Given the description of an element on the screen output the (x, y) to click on. 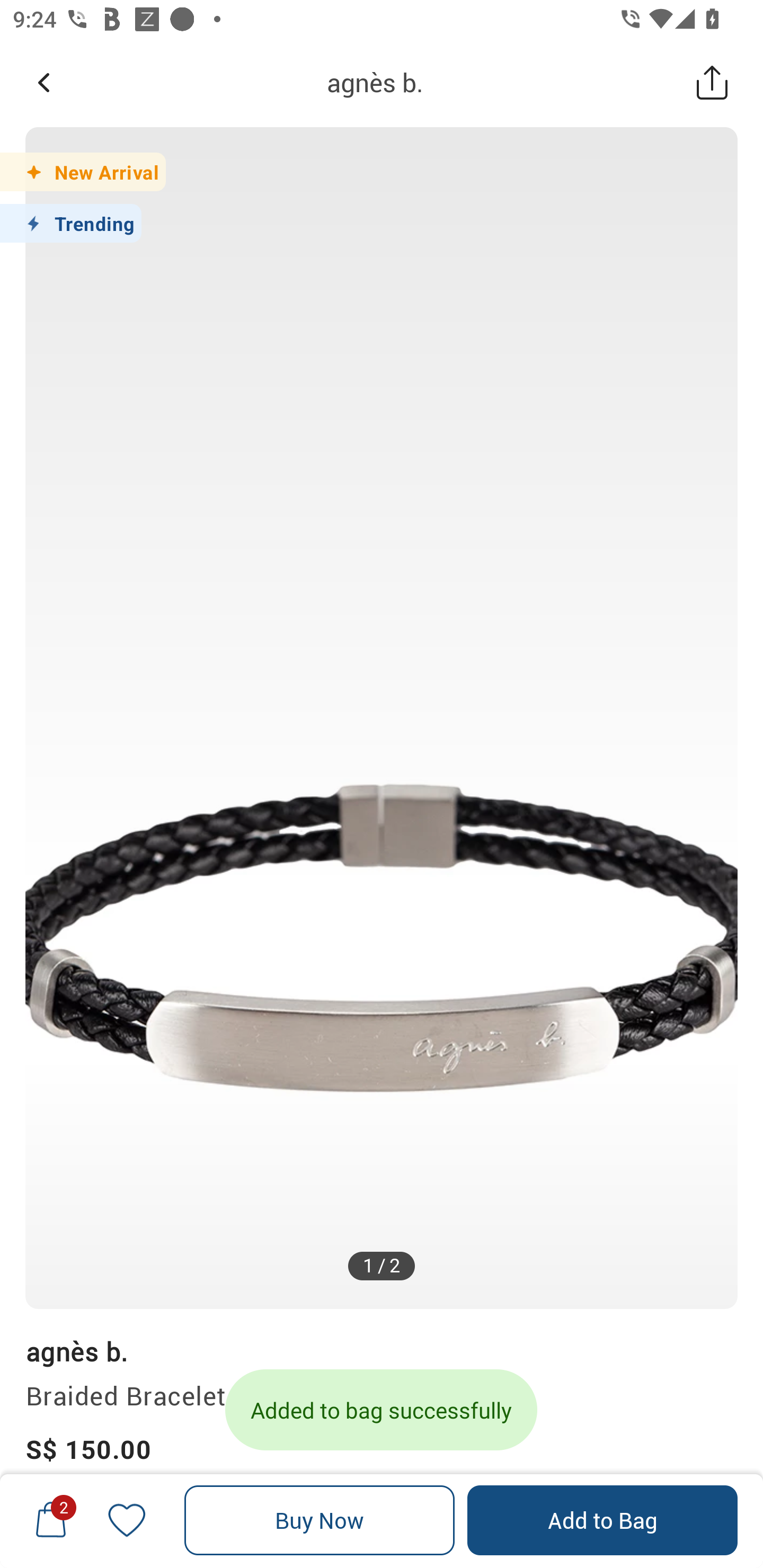
agnès b. (375, 82)
Share this Product (711, 82)
agnès b. (76, 1351)
Buy Now (319, 1519)
Add to Bag (601, 1519)
2 (50, 1520)
